Given the description of an element on the screen output the (x, y) to click on. 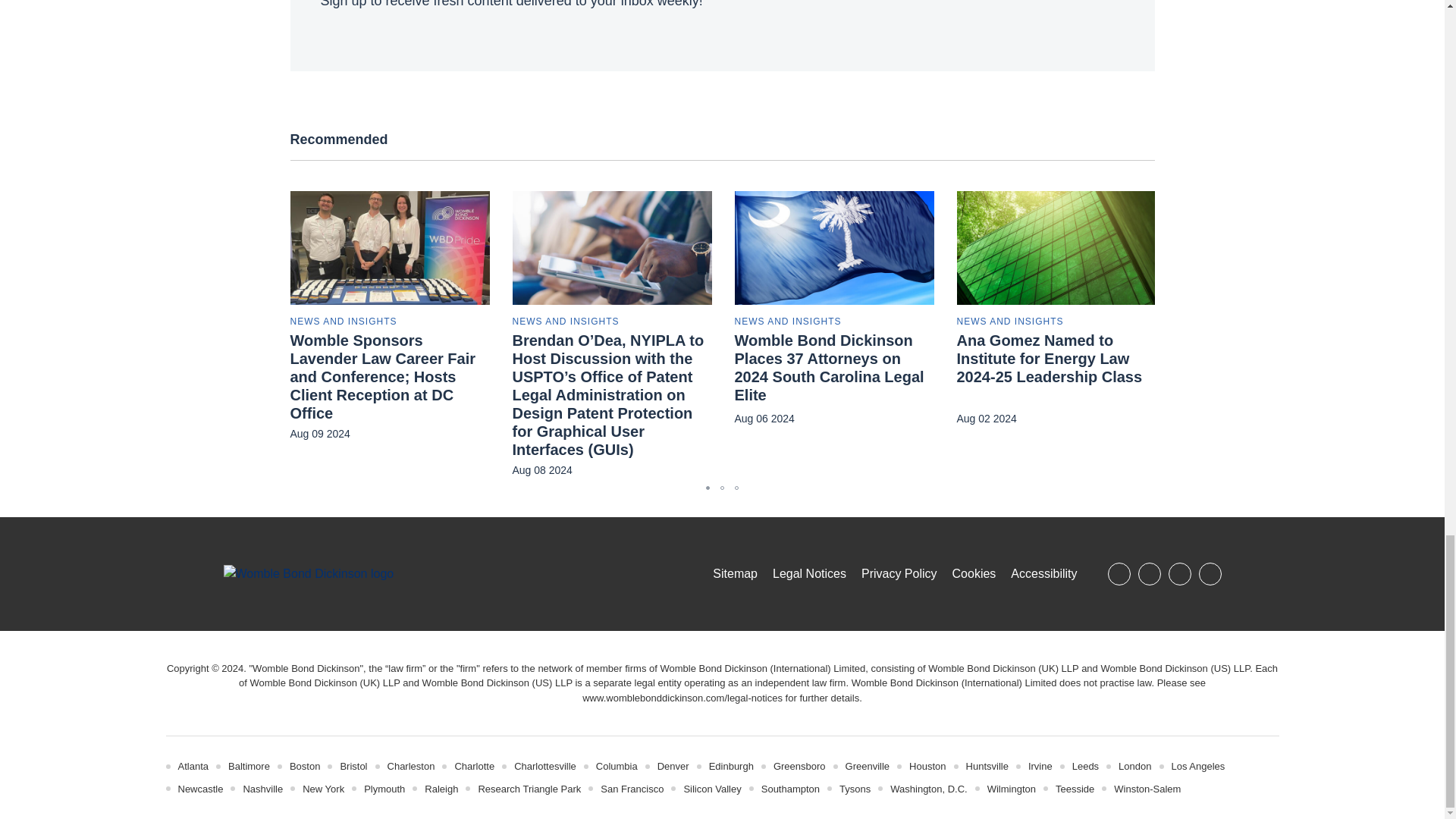
Atlanta, GA, US (192, 766)
Denver, CO, US (673, 766)
Boston, MA, US (304, 766)
Greenville, SC, US (867, 766)
Bristol (352, 766)
Baltimore, MD, US (248, 766)
Greensboro, NC, US (799, 766)
Legal Notices (682, 697)
Edinburgh (731, 766)
Columbia, SC, US (616, 766)
